Given the description of an element on the screen output the (x, y) to click on. 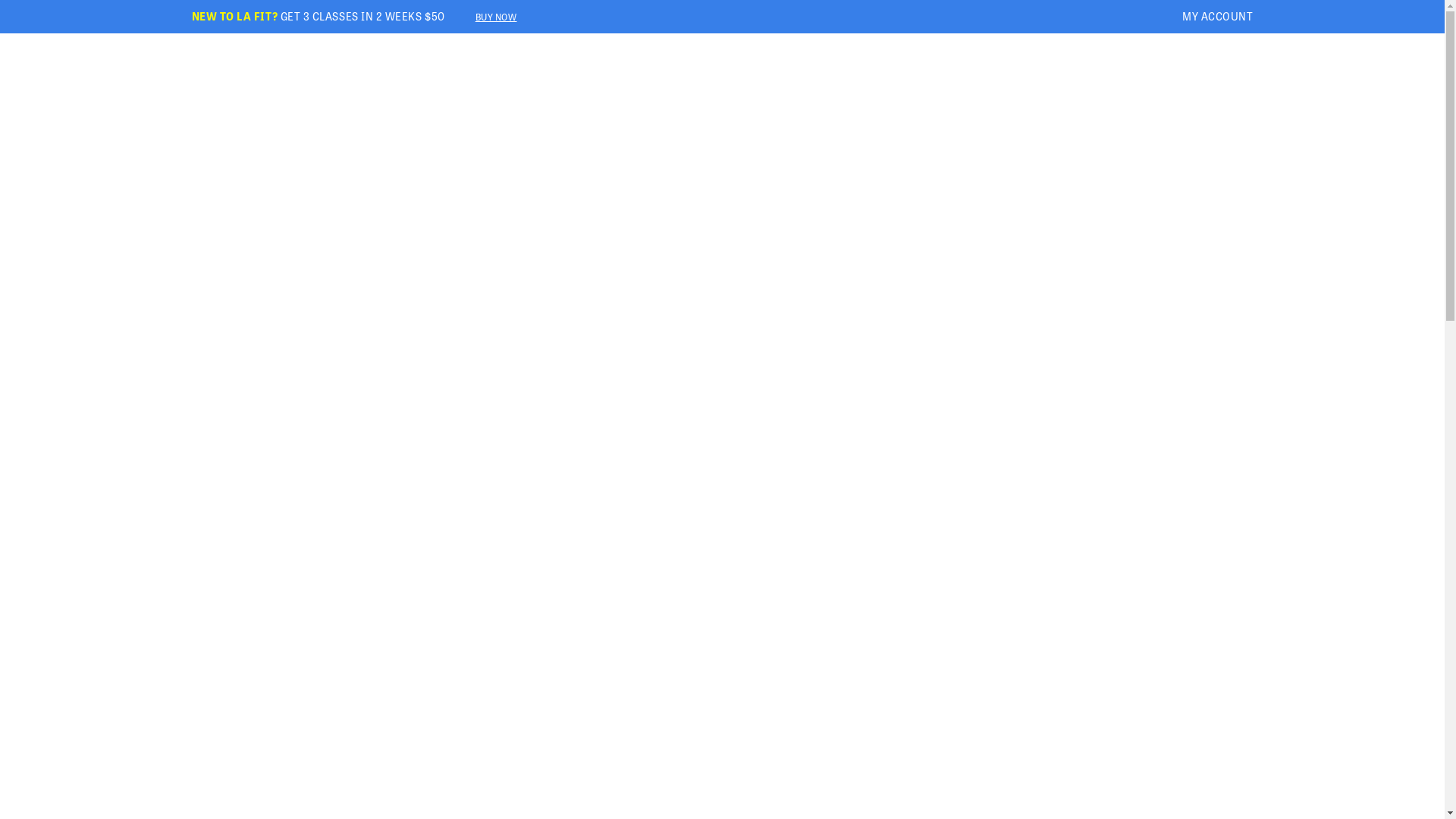
GET STARTED Element type: text (376, 79)
MY ACCOUNT Element type: text (1217, 15)
OUR COMMUNITY Element type: text (530, 79)
NEW TO LA FIT? GET 3 CLASSES IN 2 WEEKS $50 Element type: text (317, 16)
BUY NOW Element type: text (496, 16)
